Given the description of an element on the screen output the (x, y) to click on. 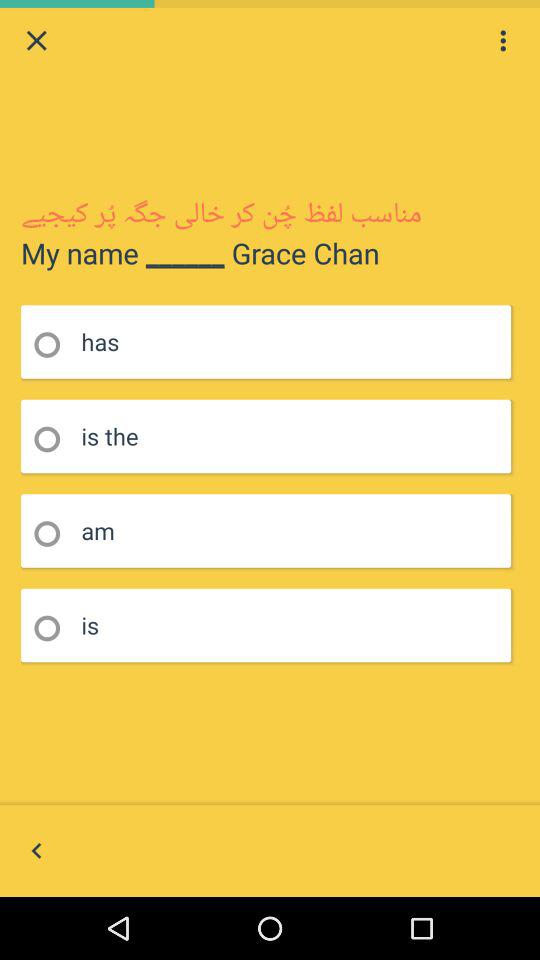
exit button (36, 40)
